Given the description of an element on the screen output the (x, y) to click on. 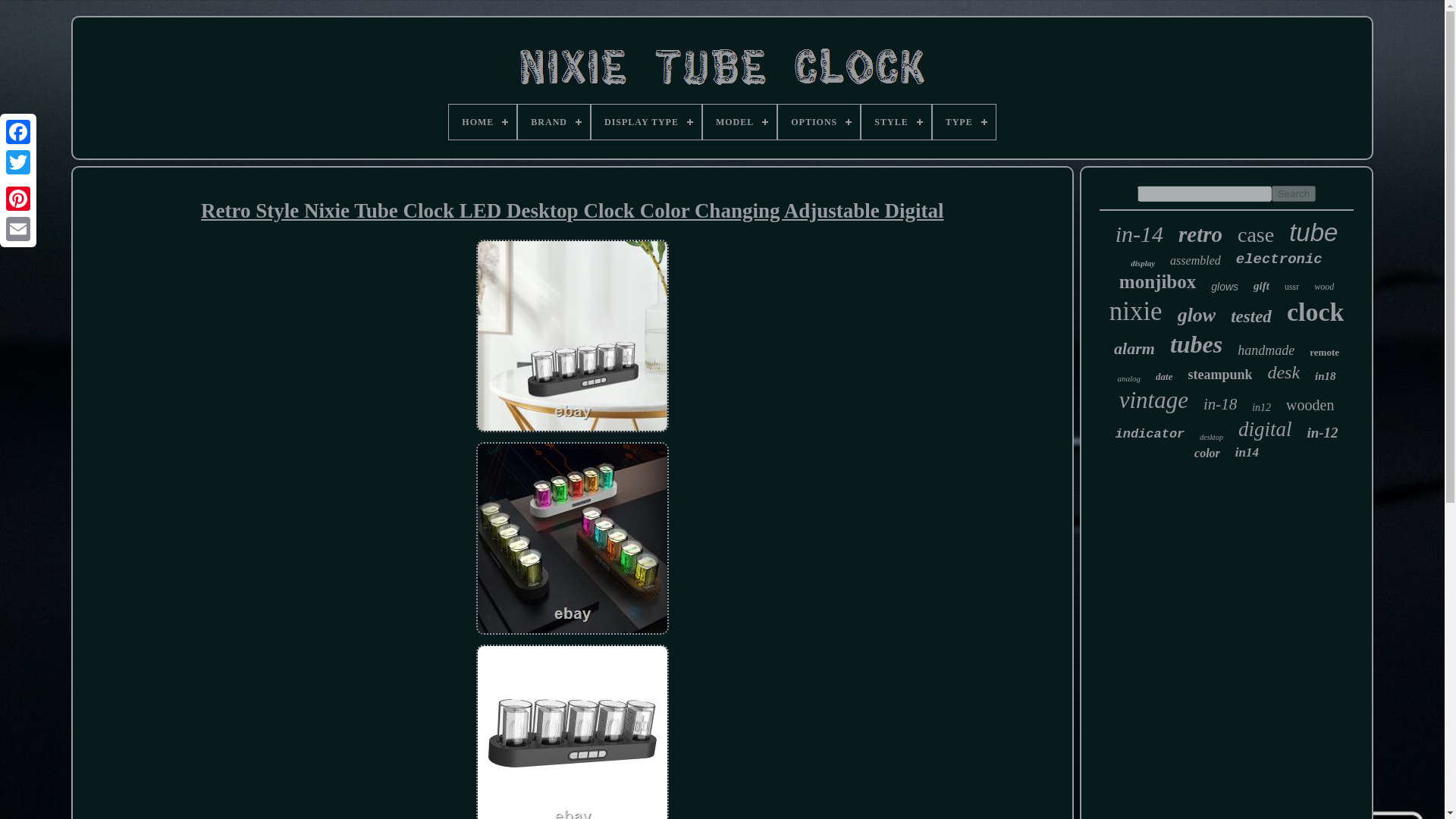
HOME (482, 121)
Search (1293, 193)
BRAND (553, 121)
Pinterest (17, 198)
DISPLAY TYPE (646, 121)
